Given the description of an element on the screen output the (x, y) to click on. 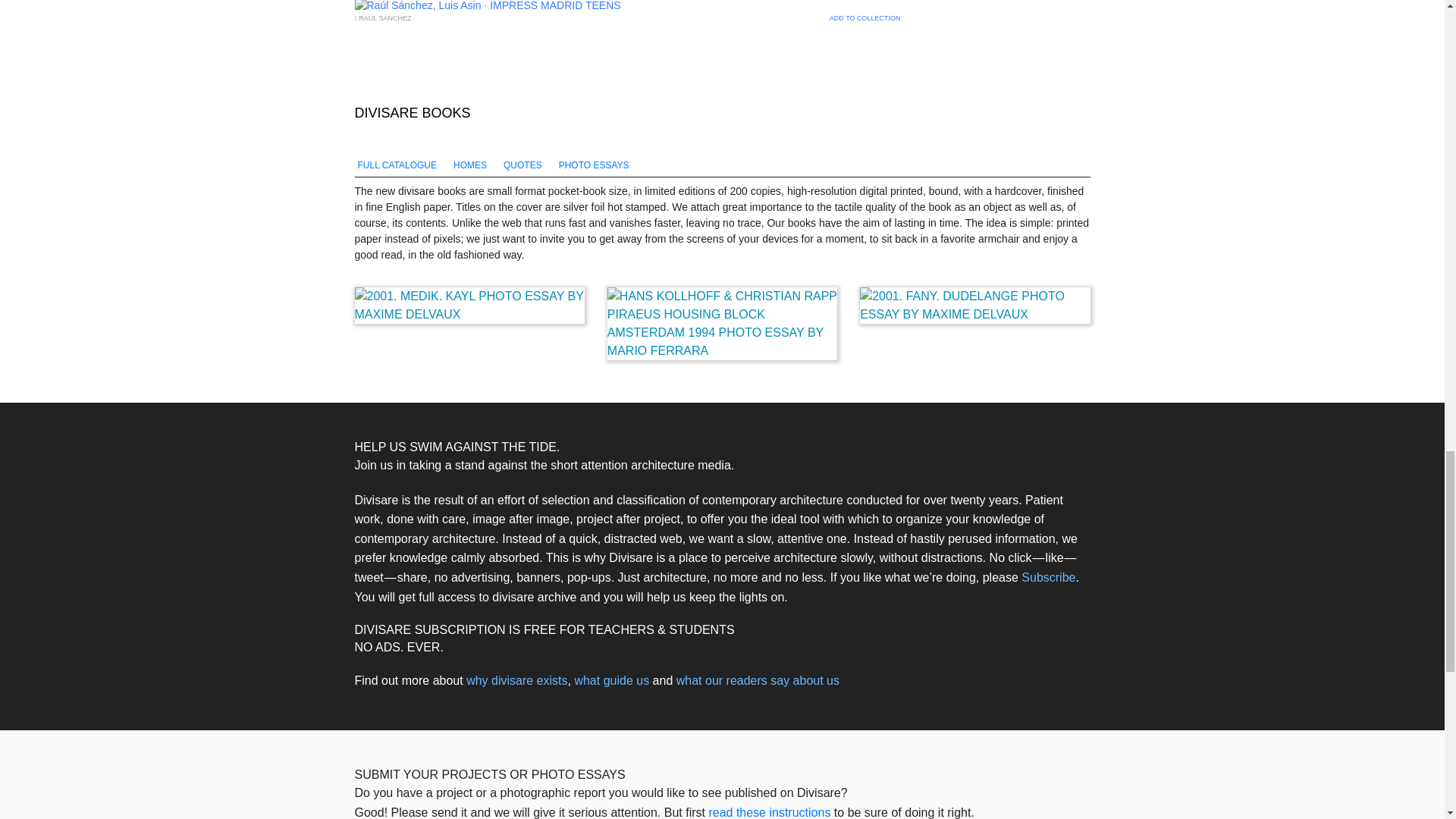
2001. MEDIK. KAYL PHOTO ESSAY BY MAXIME DELVAUX (470, 305)
2001. FANY. DUDELANGE PHOTO ESSAY BY MAXIME DELVAUX (974, 305)
